Given the description of an element on the screen output the (x, y) to click on. 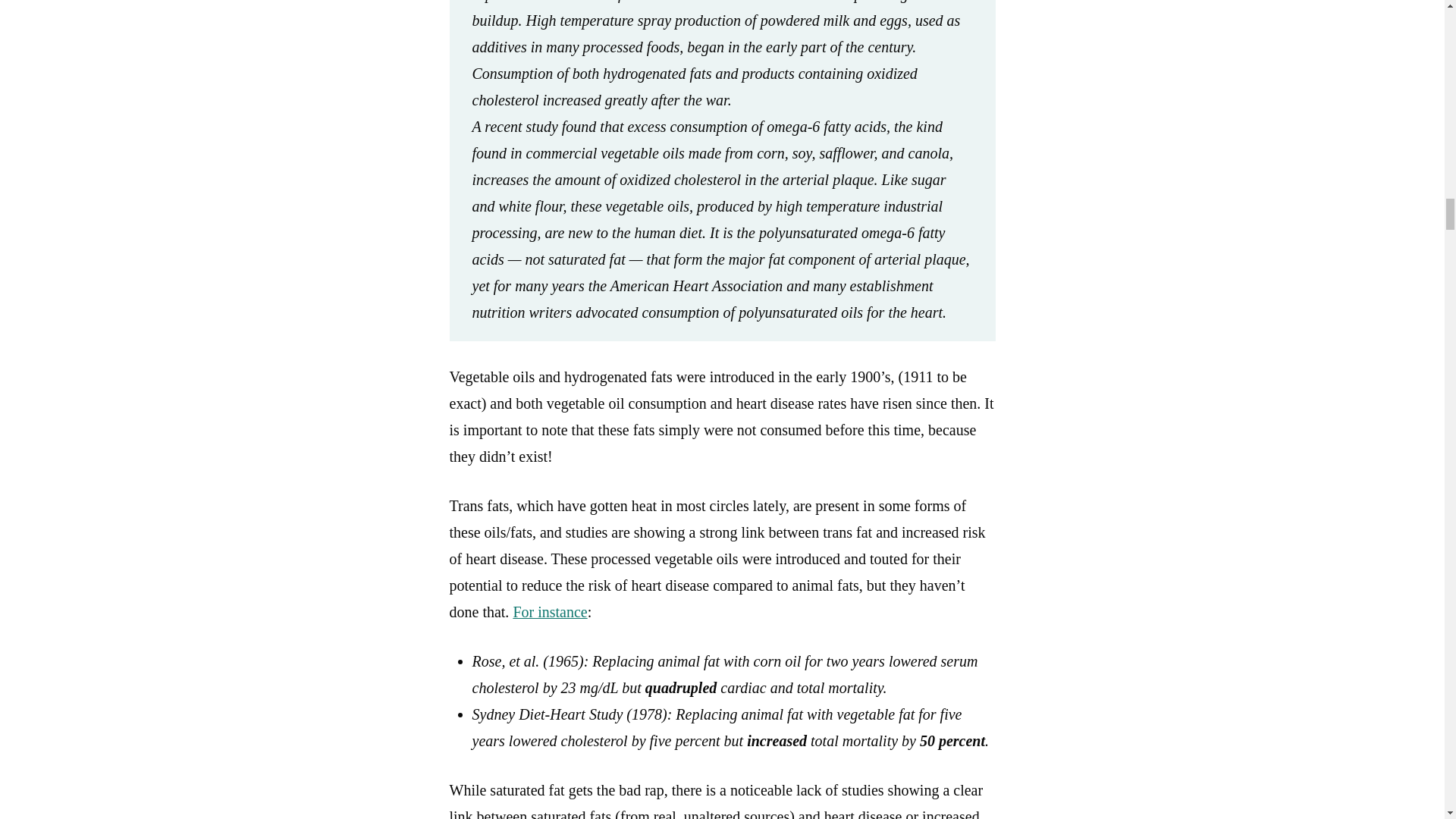
For instance (549, 611)
